Given the description of an element on the screen output the (x, y) to click on. 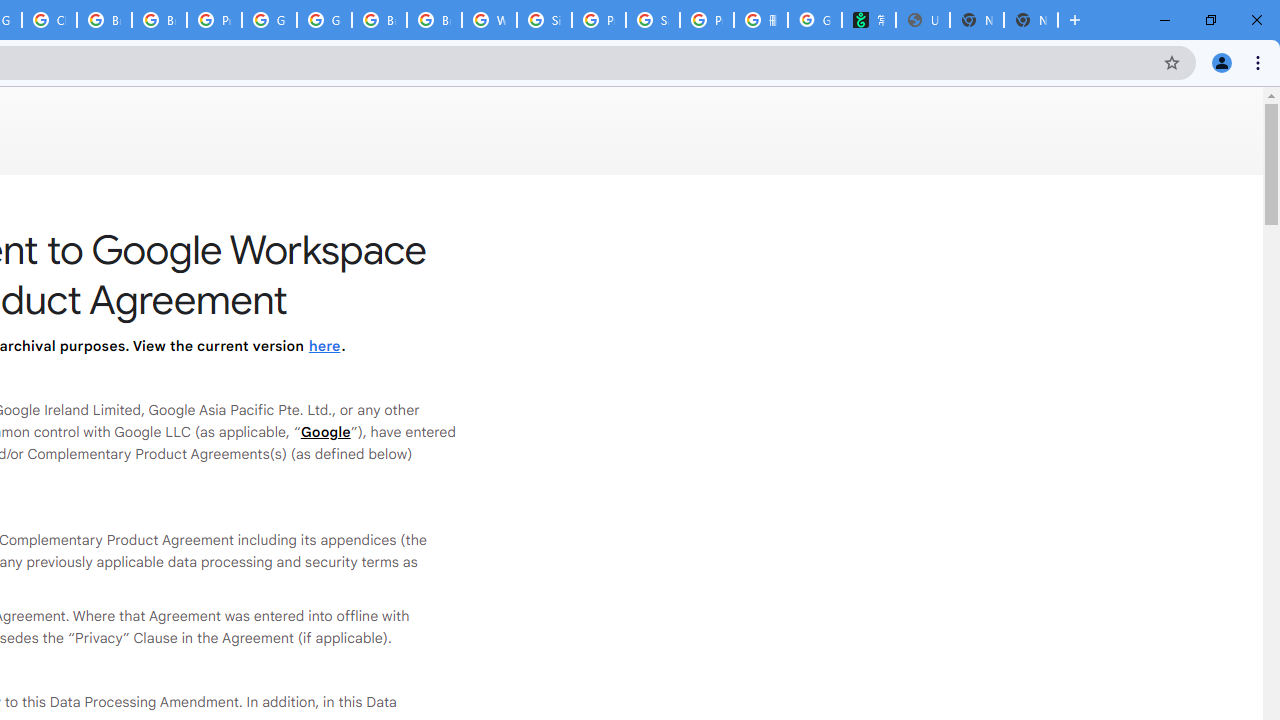
Google Cloud Platform (324, 20)
here (324, 345)
New Tab (1030, 20)
Sign in - Google Accounts (544, 20)
